Given the description of an element on the screen output the (x, y) to click on. 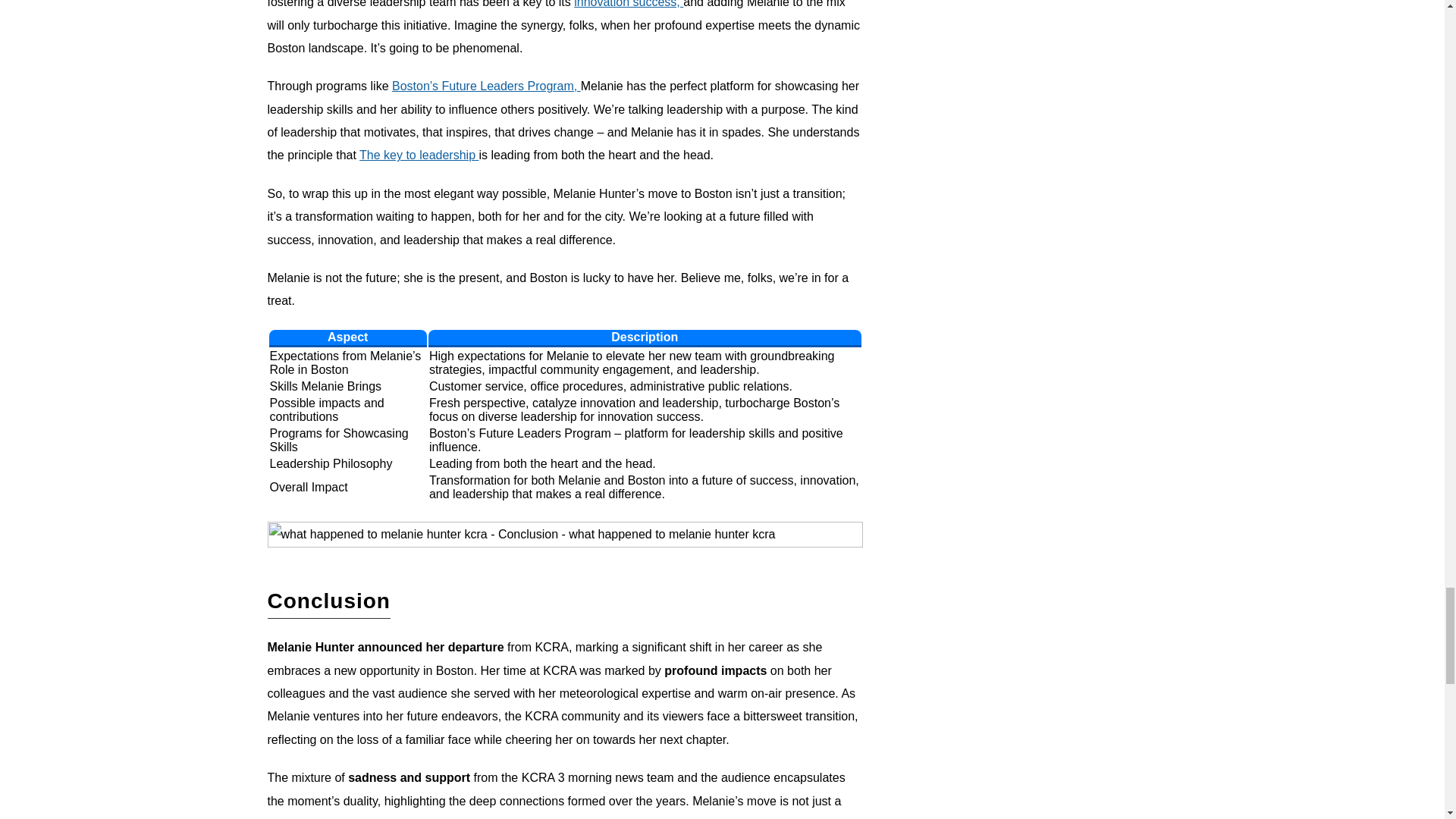
The key to leadership (419, 154)
what happened to melanie hunter kcra - Conclusion (563, 534)
innovation success, (627, 4)
